Given the description of an element on the screen output the (x, y) to click on. 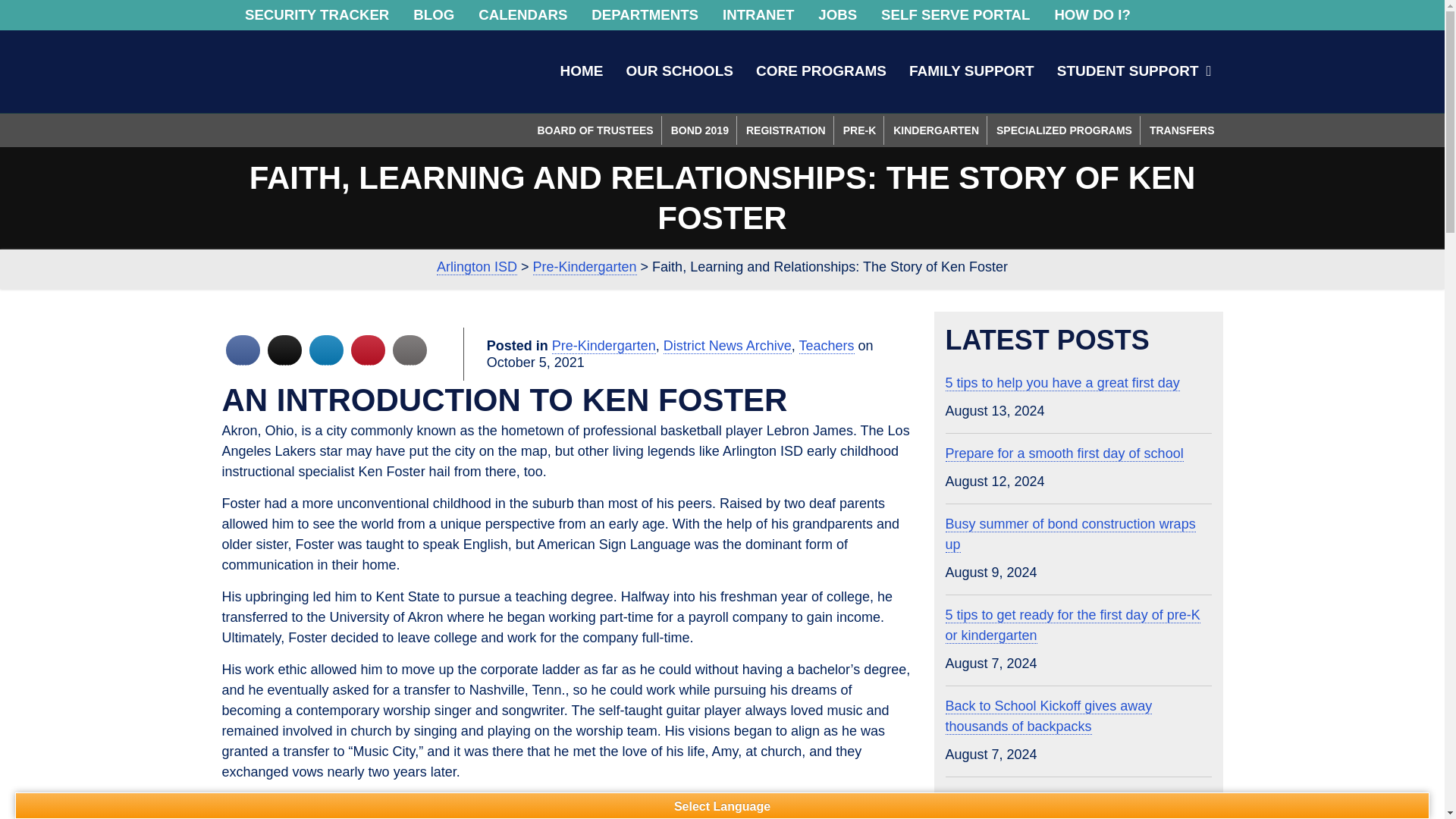
REGISTRATION (785, 130)
INTRANET (758, 15)
Go to Arlington ISD. (476, 267)
BLOG (433, 15)
BOND 2019 (699, 130)
BOARD OF TRUSTEES (595, 130)
FAMILY SUPPORT (971, 69)
TRANSFERS (1182, 130)
CALENDARS (522, 15)
